Given the description of an element on the screen output the (x, y) to click on. 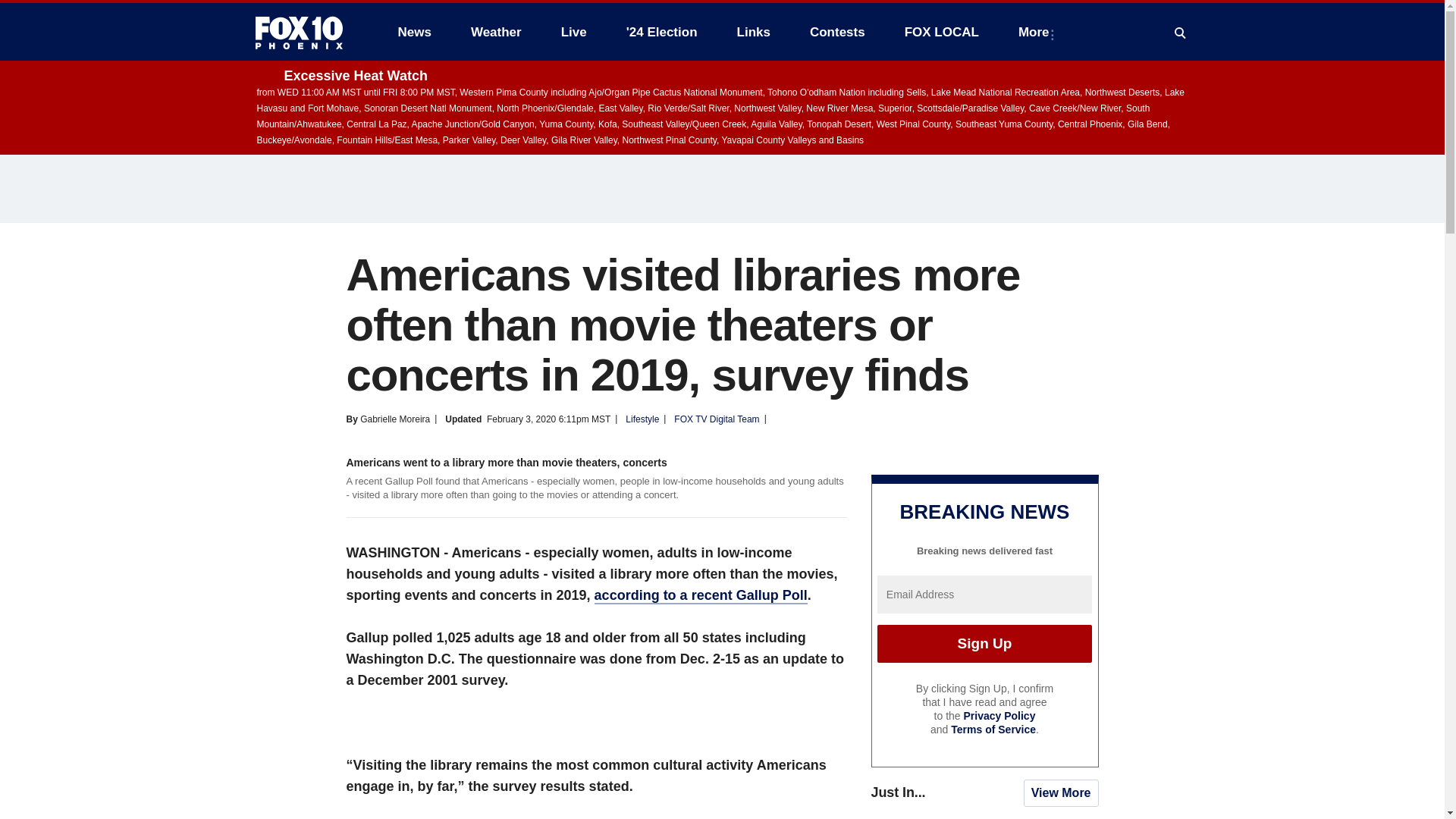
Links (754, 32)
Contests (837, 32)
FOX LOCAL (941, 32)
Weather (496, 32)
Sign Up (984, 643)
More (1036, 32)
Live (573, 32)
'24 Election (662, 32)
News (413, 32)
